Given the description of an element on the screen output the (x, y) to click on. 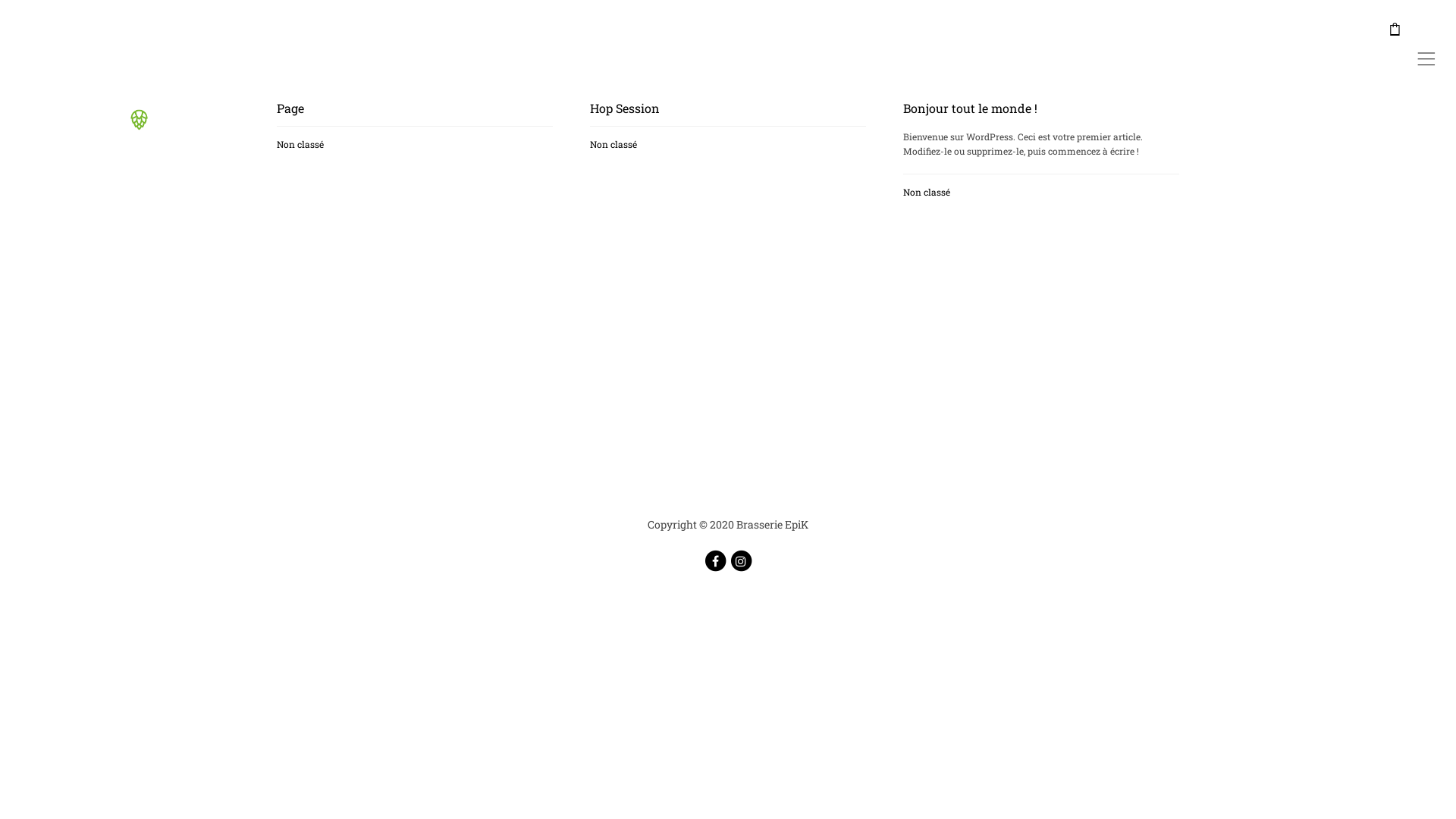
Brasserie EpiK Element type: hover (133, 134)
Bonjour tout le monde ! Element type: text (970, 108)
Page Element type: text (290, 108)
$ Element type: text (1394, 27)
Hop Session Element type: text (624, 108)
, Element type: text (1426, 29)
